Given the description of an element on the screen output the (x, y) to click on. 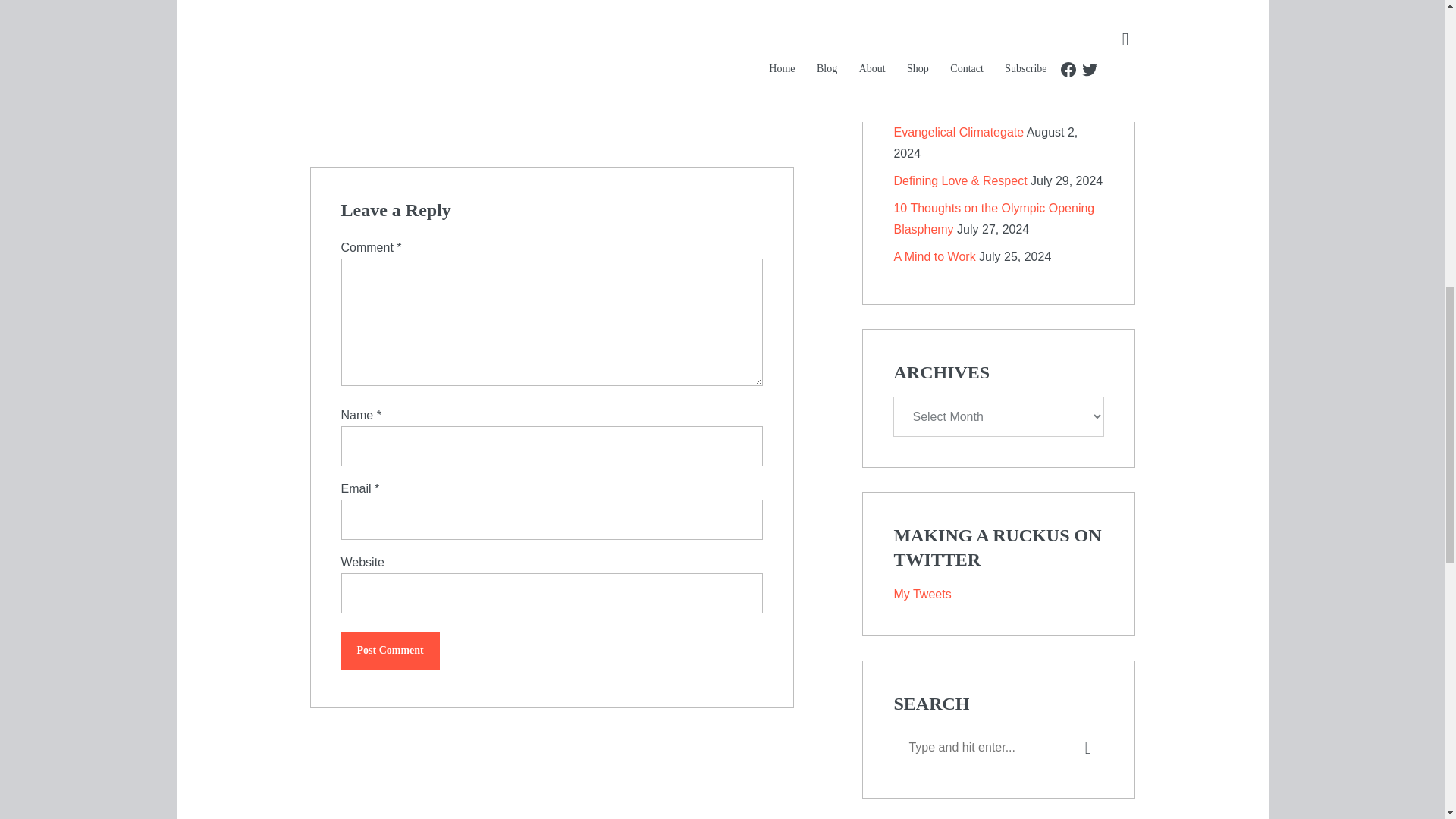
Post Comment (389, 650)
10 Thoughts on the Olympic Opening Blasphemy (993, 218)
Gavin Ortlund, Megan Basham, and Evangelical Climategate (989, 121)
Aristotle, Eric, and James (961, 62)
A Mind to Work (934, 256)
Post Comment (389, 650)
